Given the description of an element on the screen output the (x, y) to click on. 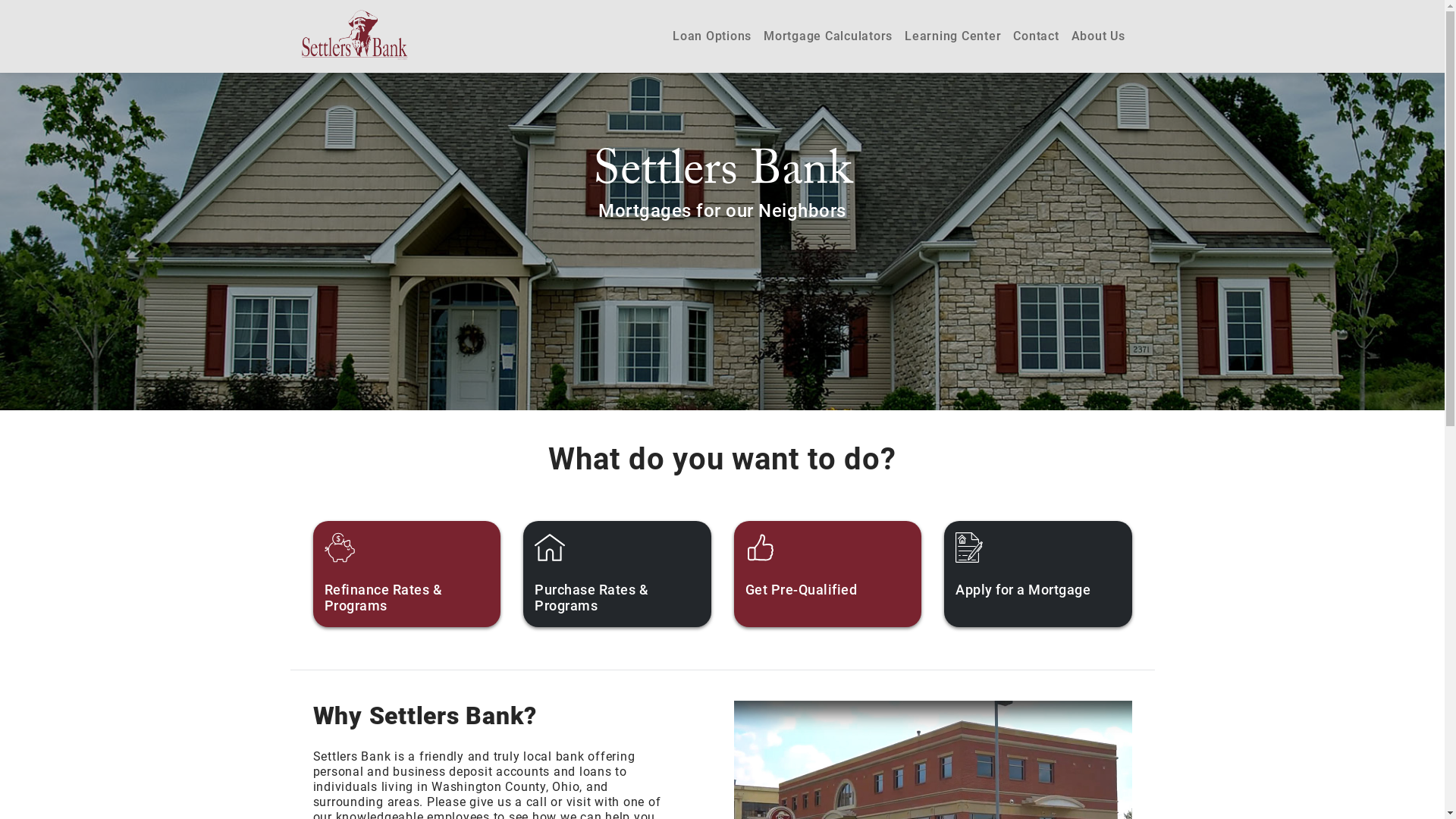
Loan Options Element type: text (711, 36)
Refinance Rates & Programs Element type: text (406, 573)
Get Pre-Qualified Element type: text (828, 573)
Mortgage Calculators Element type: text (827, 36)
About Us Element type: text (1097, 36)
Settlers Bank Element type: hover (354, 35)
Purchase Rates & Programs Element type: text (617, 573)
Contact Element type: text (1035, 36)
Apply for a Mortgage Element type: text (1038, 573)
Learning Center Element type: text (952, 36)
